Given the description of an element on the screen output the (x, y) to click on. 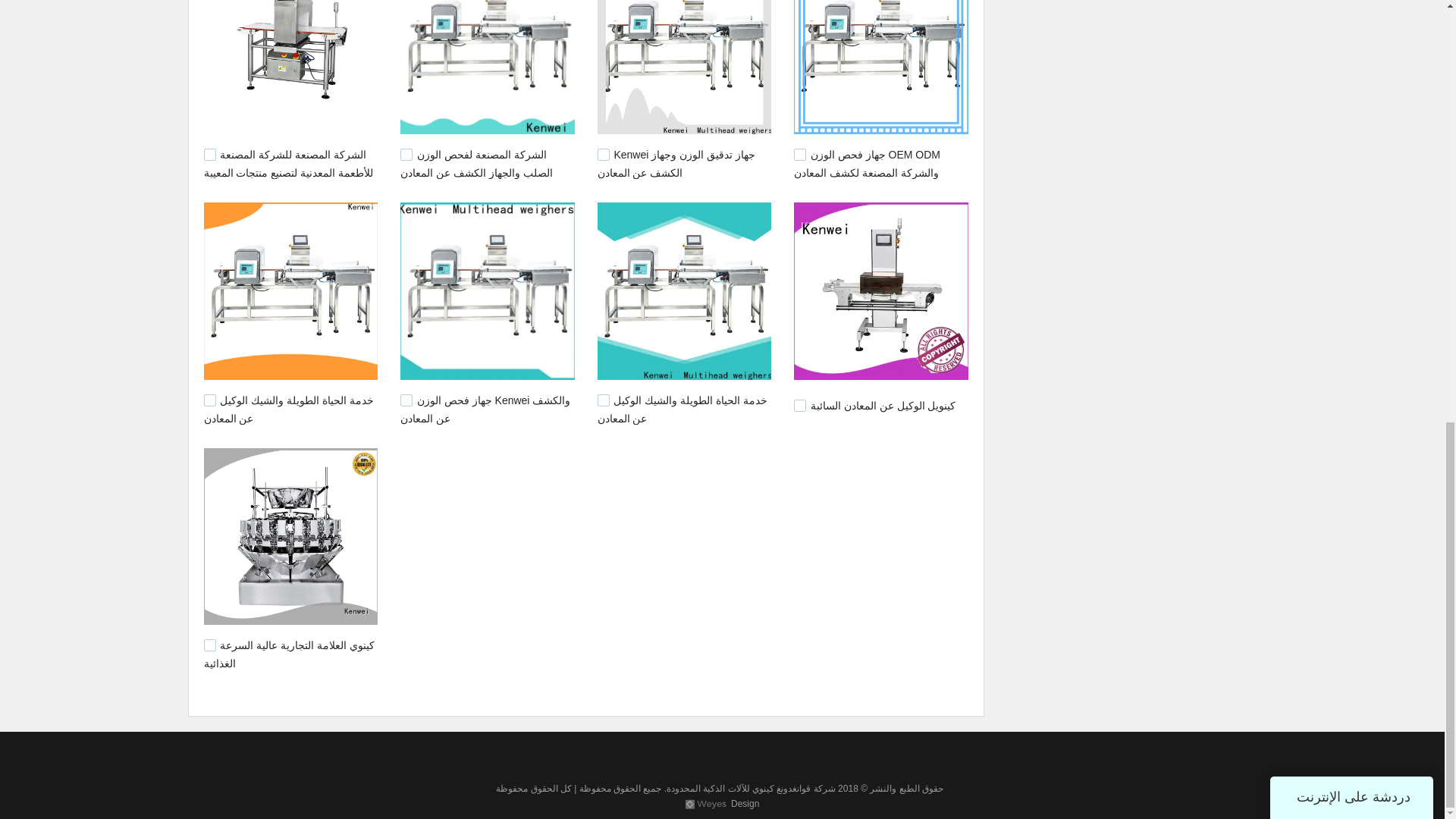
24664 (406, 154)
1693 (799, 405)
976 (209, 154)
24416 (603, 154)
21787 (799, 154)
19642 (603, 399)
19837 (209, 399)
19726 (406, 399)
1676 (209, 645)
